Given the description of an element on the screen output the (x, y) to click on. 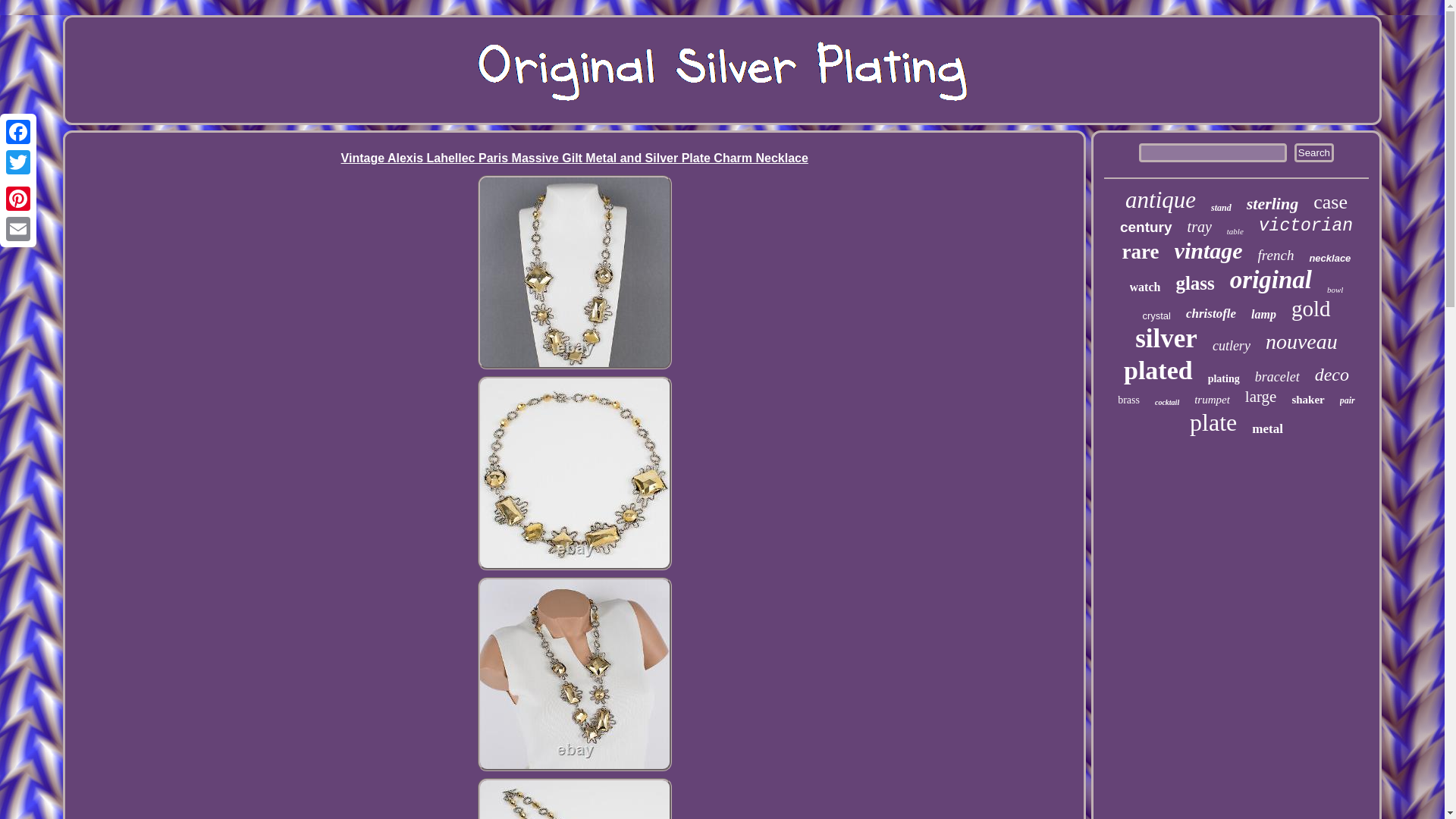
Facebook (17, 132)
glass (1194, 283)
table (1235, 230)
sterling (1272, 203)
necklace (1329, 257)
antique (1160, 199)
Twitter (17, 162)
rare (1140, 251)
tray (1199, 226)
Email (17, 228)
watch (1144, 287)
stand (1221, 207)
victorian (1305, 225)
